Given the description of an element on the screen output the (x, y) to click on. 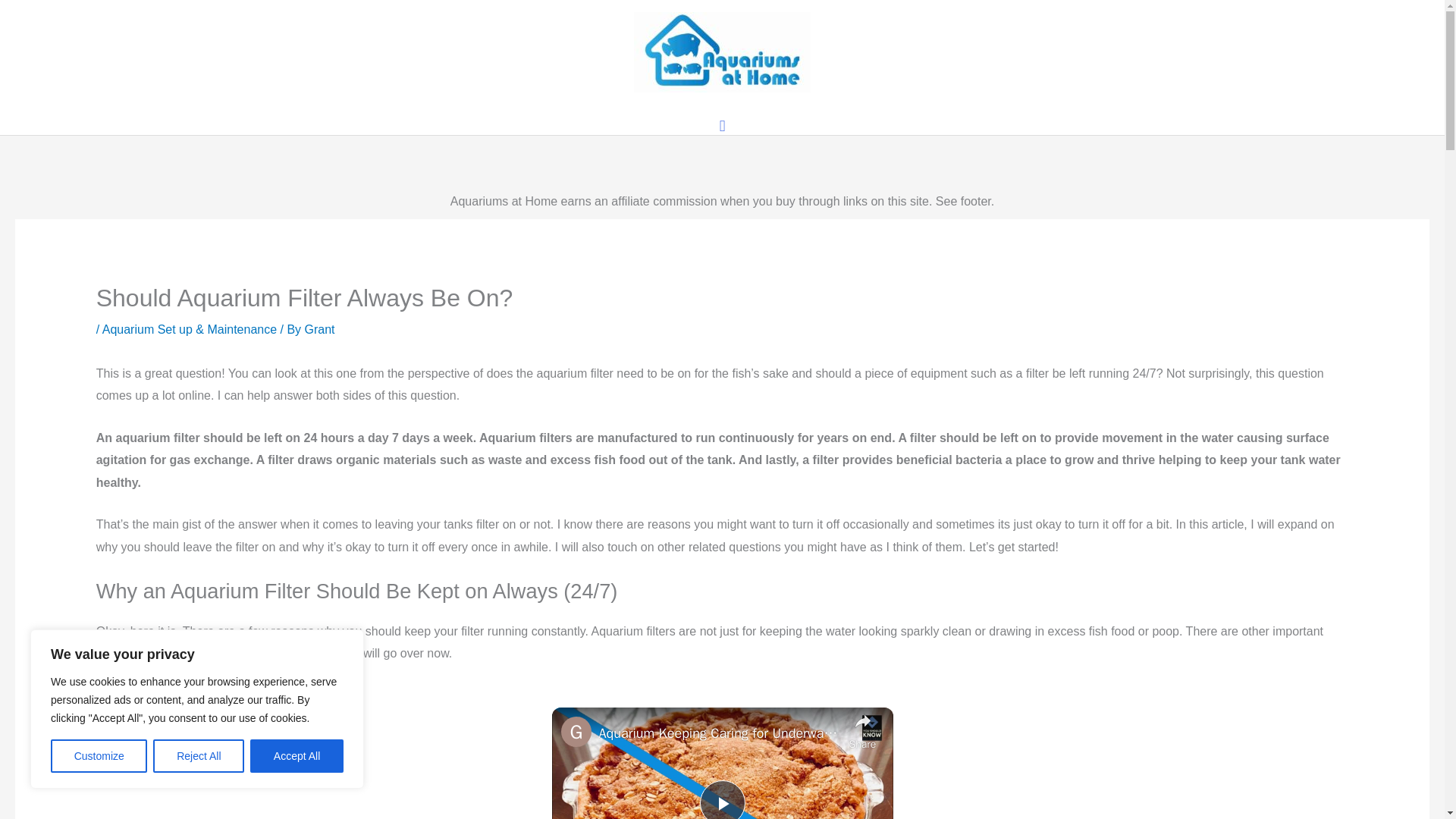
Reject All (198, 756)
Play Video (721, 799)
Customize (98, 756)
Accept All (296, 756)
Play Video (721, 799)
Grant (319, 328)
View all posts by Grant (319, 328)
